Given the description of an element on the screen output the (x, y) to click on. 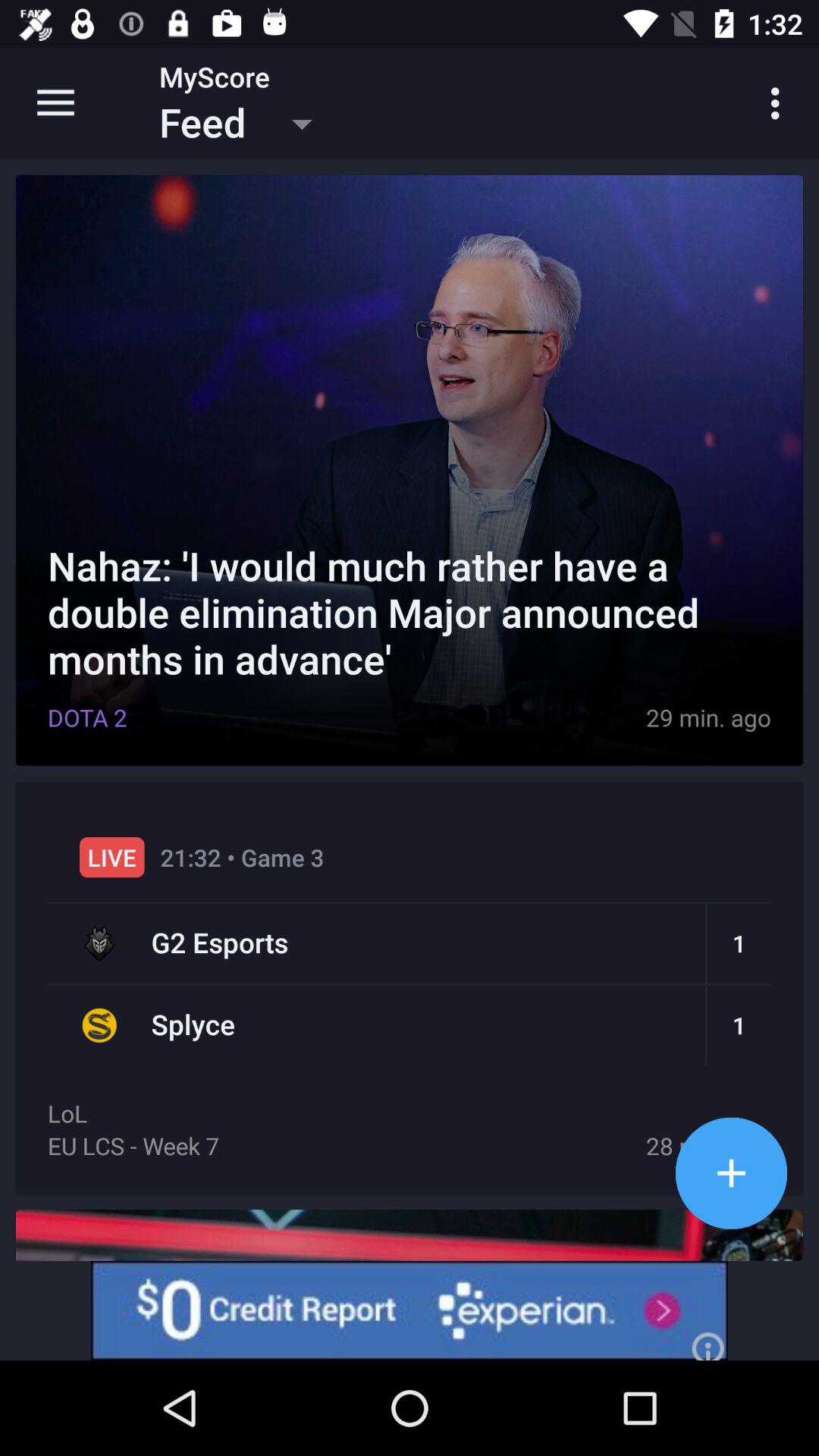
add new (731, 1173)
